Given the description of an element on the screen output the (x, y) to click on. 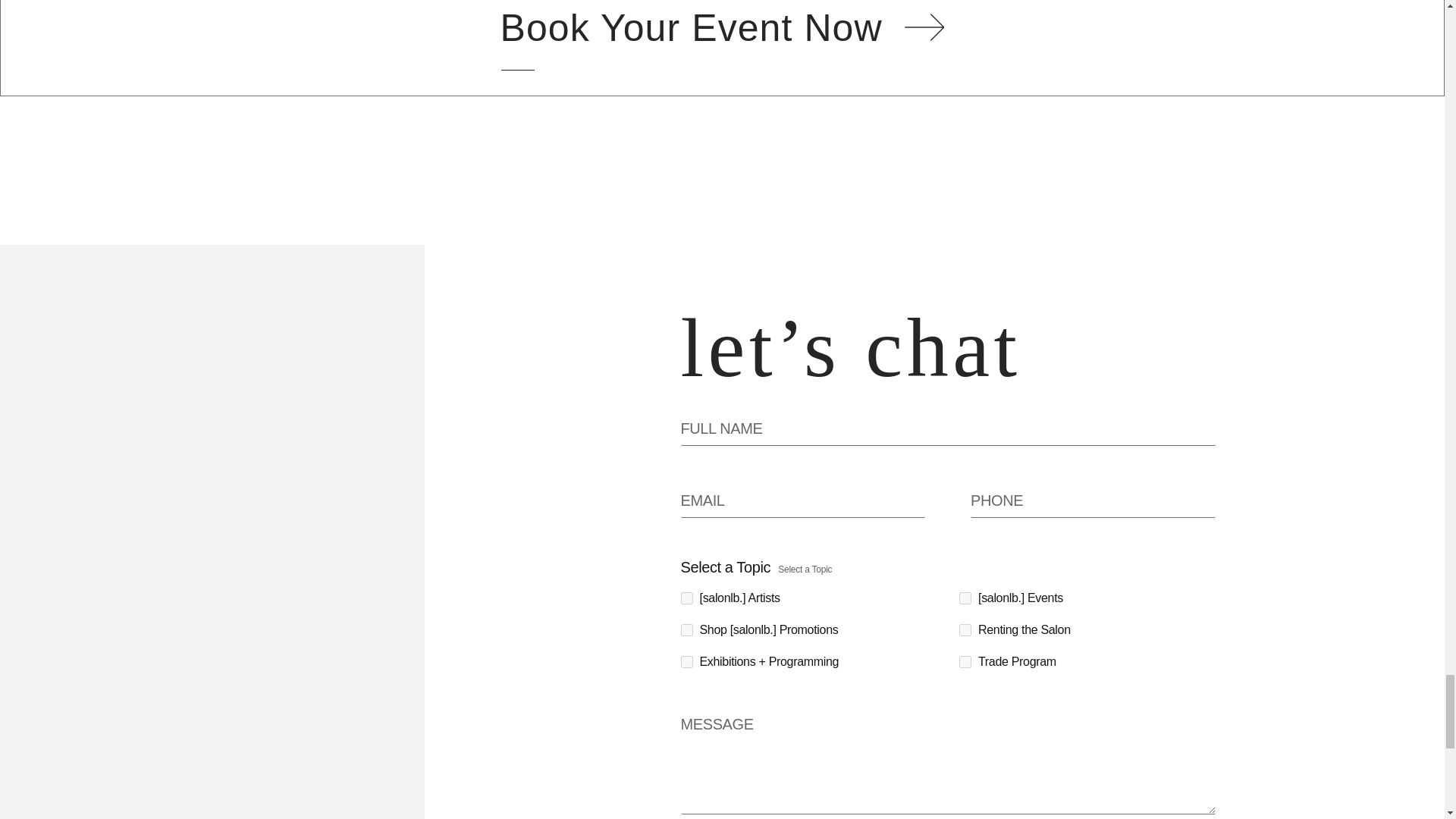
Book Your Event Now (722, 28)
Trade Program (965, 662)
Renting the Salon (965, 630)
Artists (687, 598)
Events (965, 598)
Promotions (687, 630)
